Given the description of an element on the screen output the (x, y) to click on. 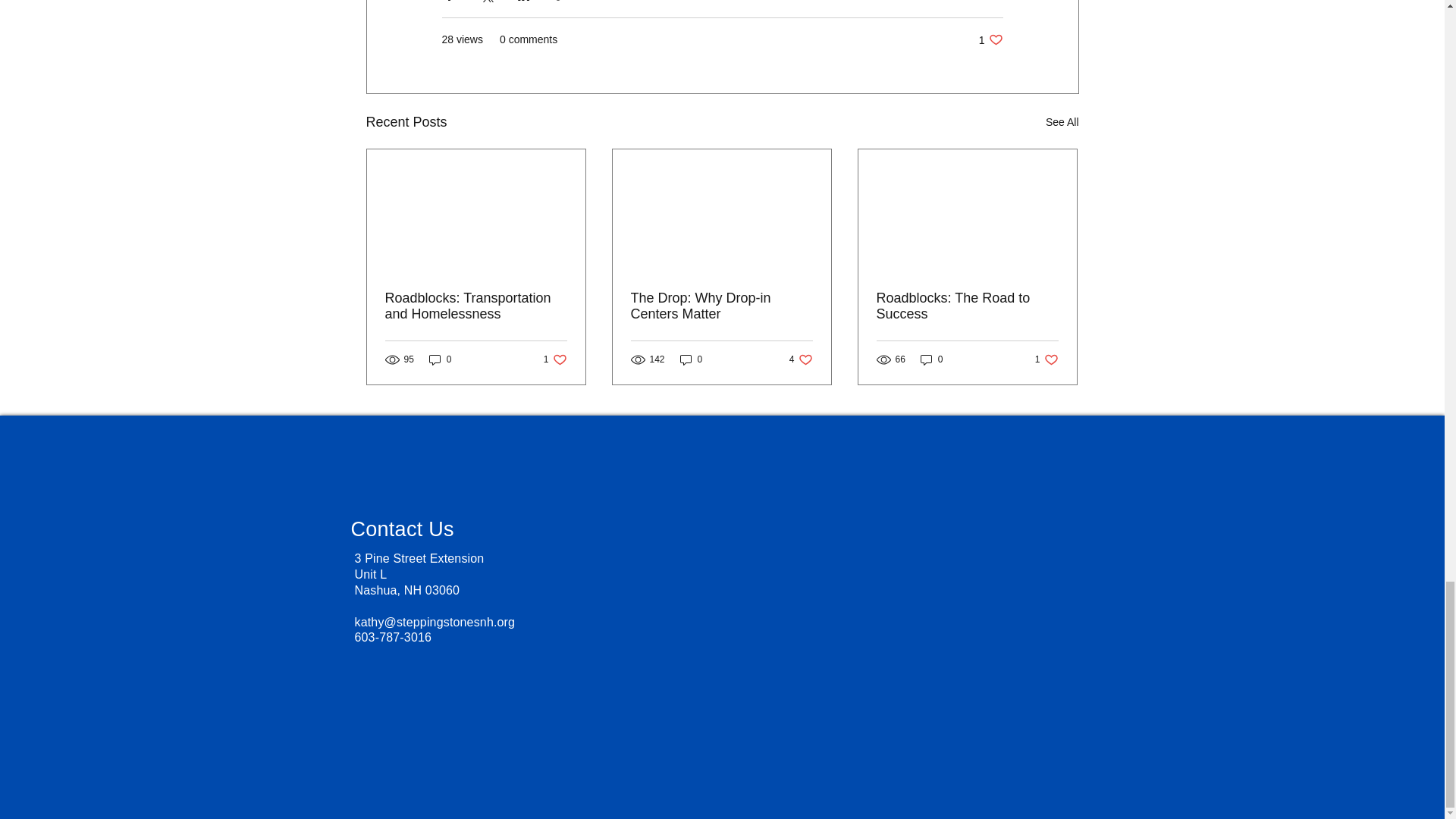
0 (691, 359)
See All (1061, 122)
Roadblocks: The Road to Success (990, 39)
The Drop: Why Drop-in Centers Matter (967, 306)
Roadblocks: Transportation and Homelessness (555, 359)
0 (721, 306)
